Given the description of an element on the screen output the (x, y) to click on. 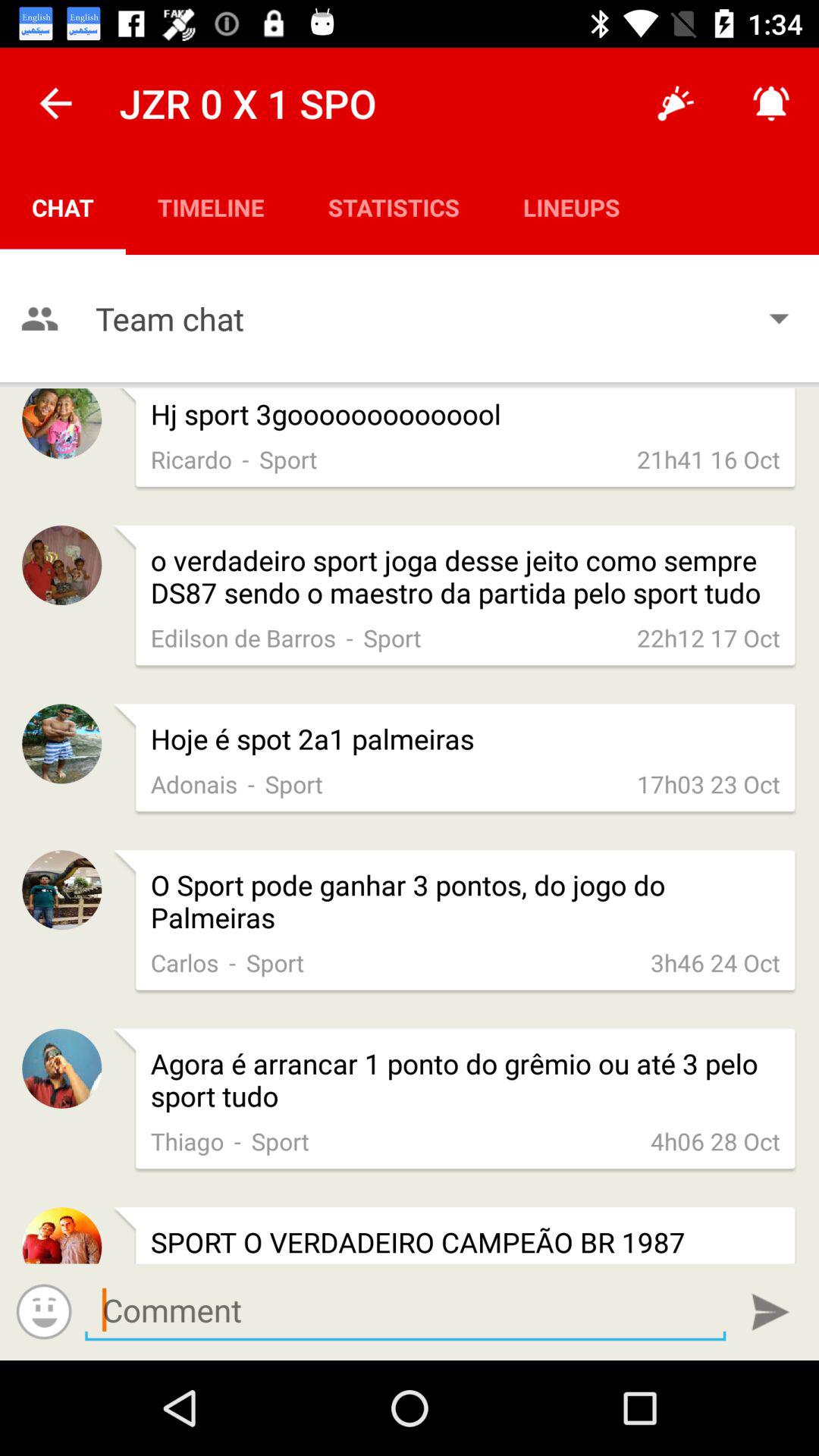
flip until - app (232, 962)
